Given the description of an element on the screen output the (x, y) to click on. 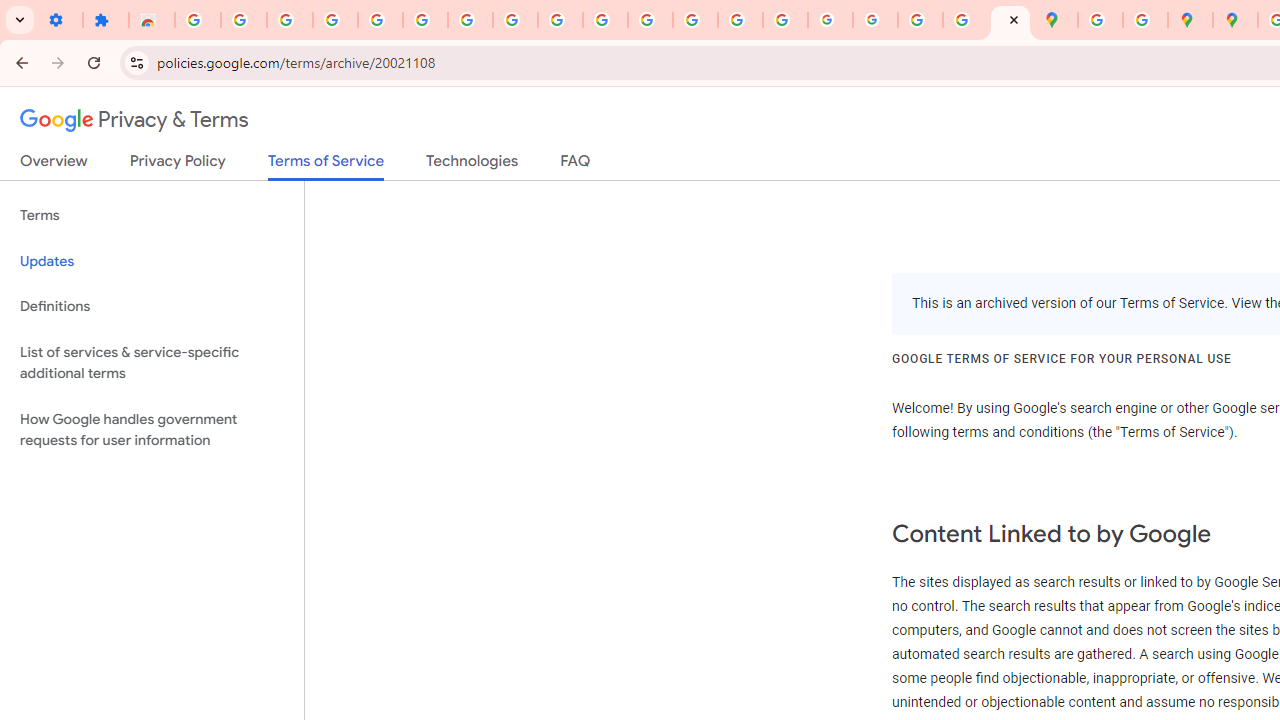
YouTube (559, 20)
List of services & service-specific additional terms (152, 362)
Sign in - Google Accounts (198, 20)
How Google handles government requests for user information (152, 429)
Delete photos & videos - Computer - Google Photos Help (290, 20)
